Given the description of an element on the screen output the (x, y) to click on. 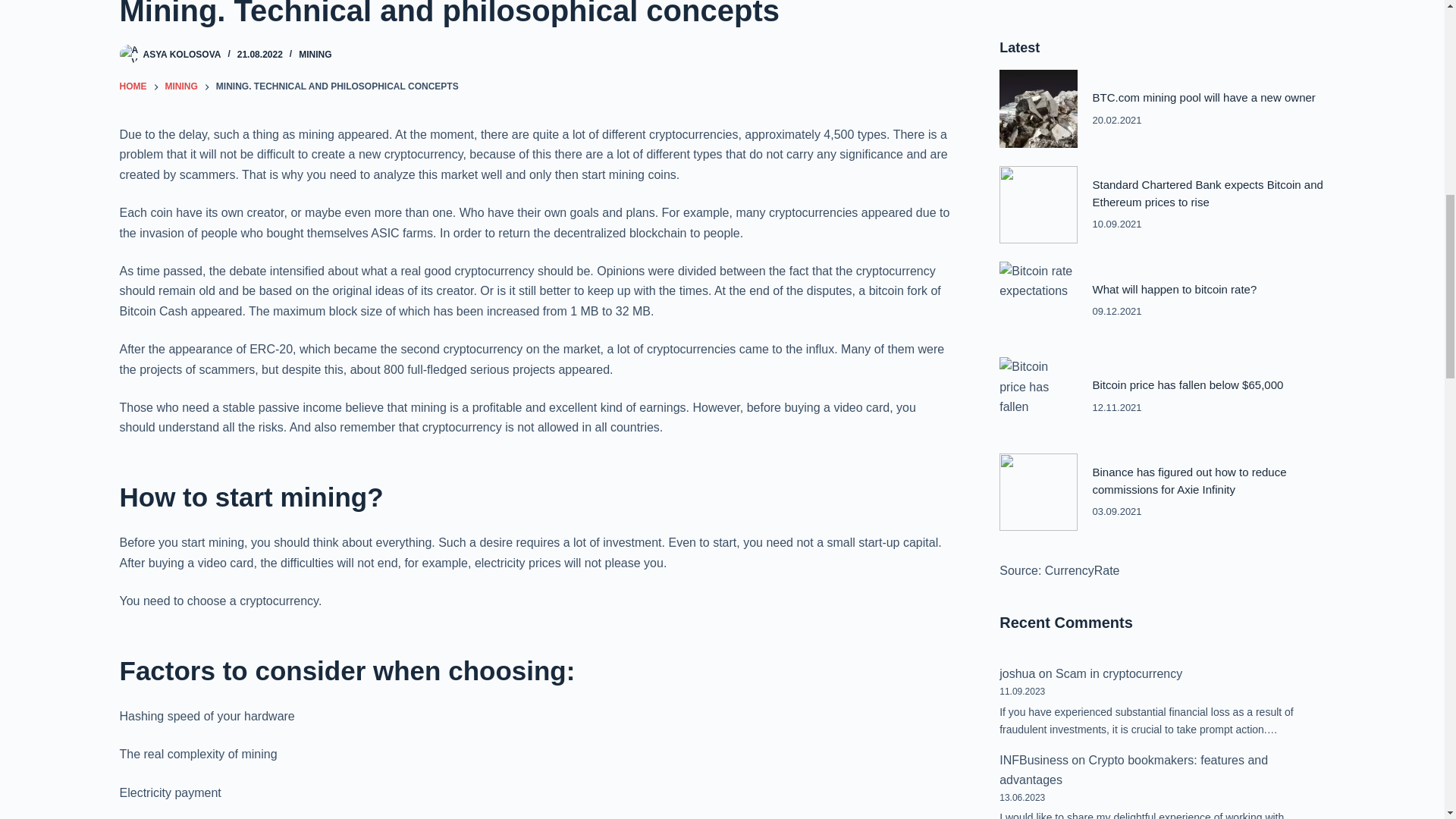
MINING (181, 87)
HOME (133, 87)
Posts by Asya Kolosova (181, 54)
ASYA KOLOSOVA (181, 54)
MINING (314, 54)
Mining. Technical and philosophical concepts (535, 15)
